Given the description of an element on the screen output the (x, y) to click on. 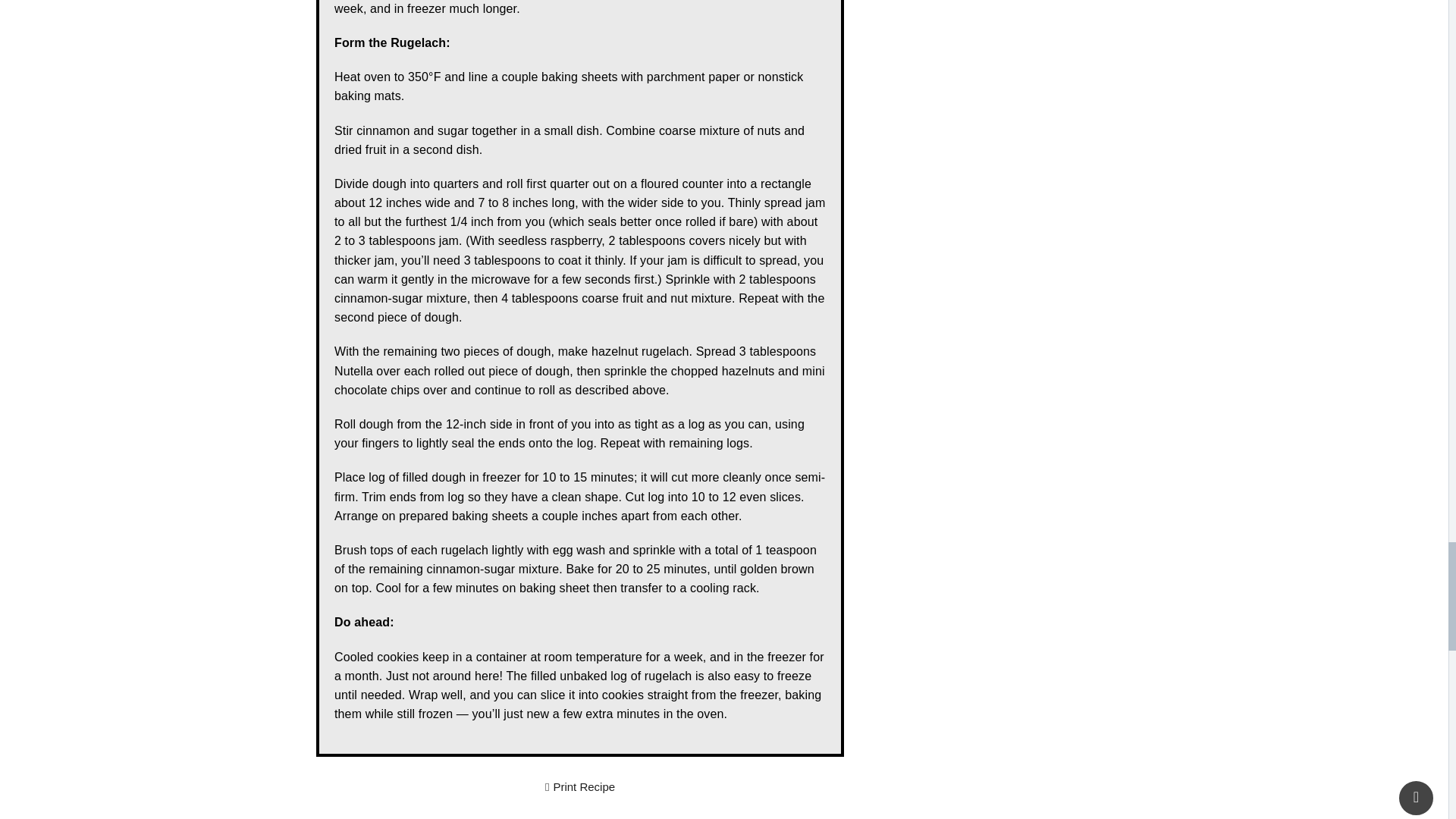
Print Recipe (580, 787)
